Given the description of an element on the screen output the (x, y) to click on. 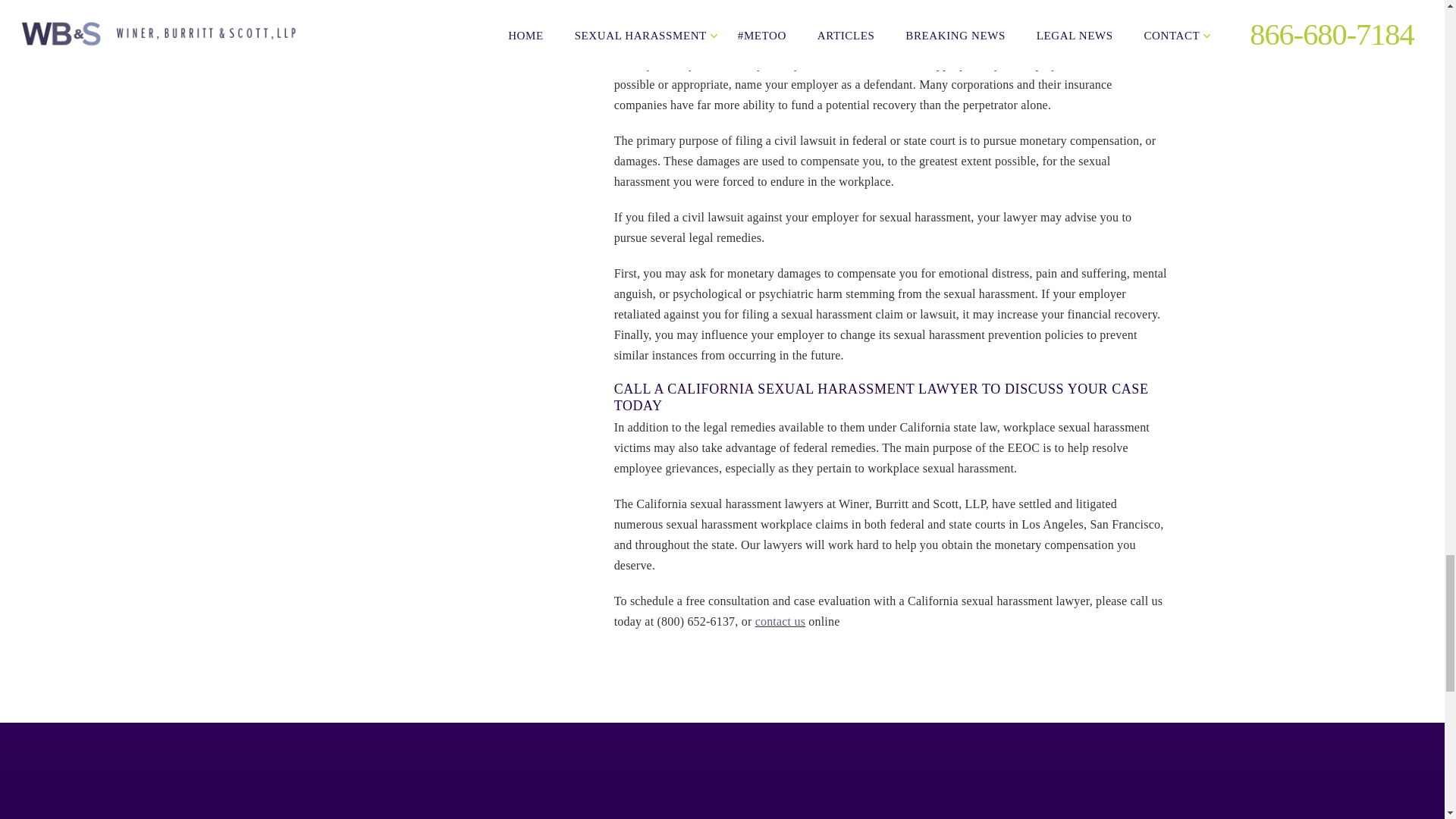
contact us (780, 621)
